Given the description of an element on the screen output the (x, y) to click on. 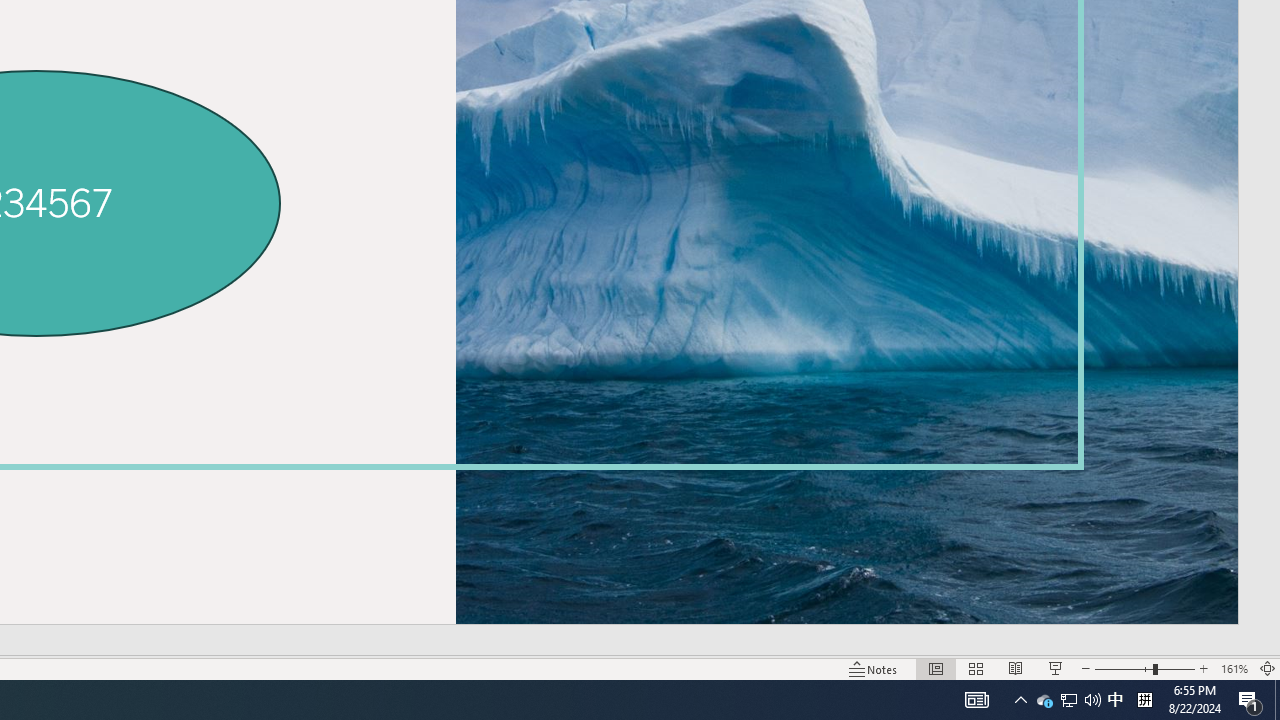
Zoom 161% (1234, 668)
